Given the description of an element on the screen output the (x, y) to click on. 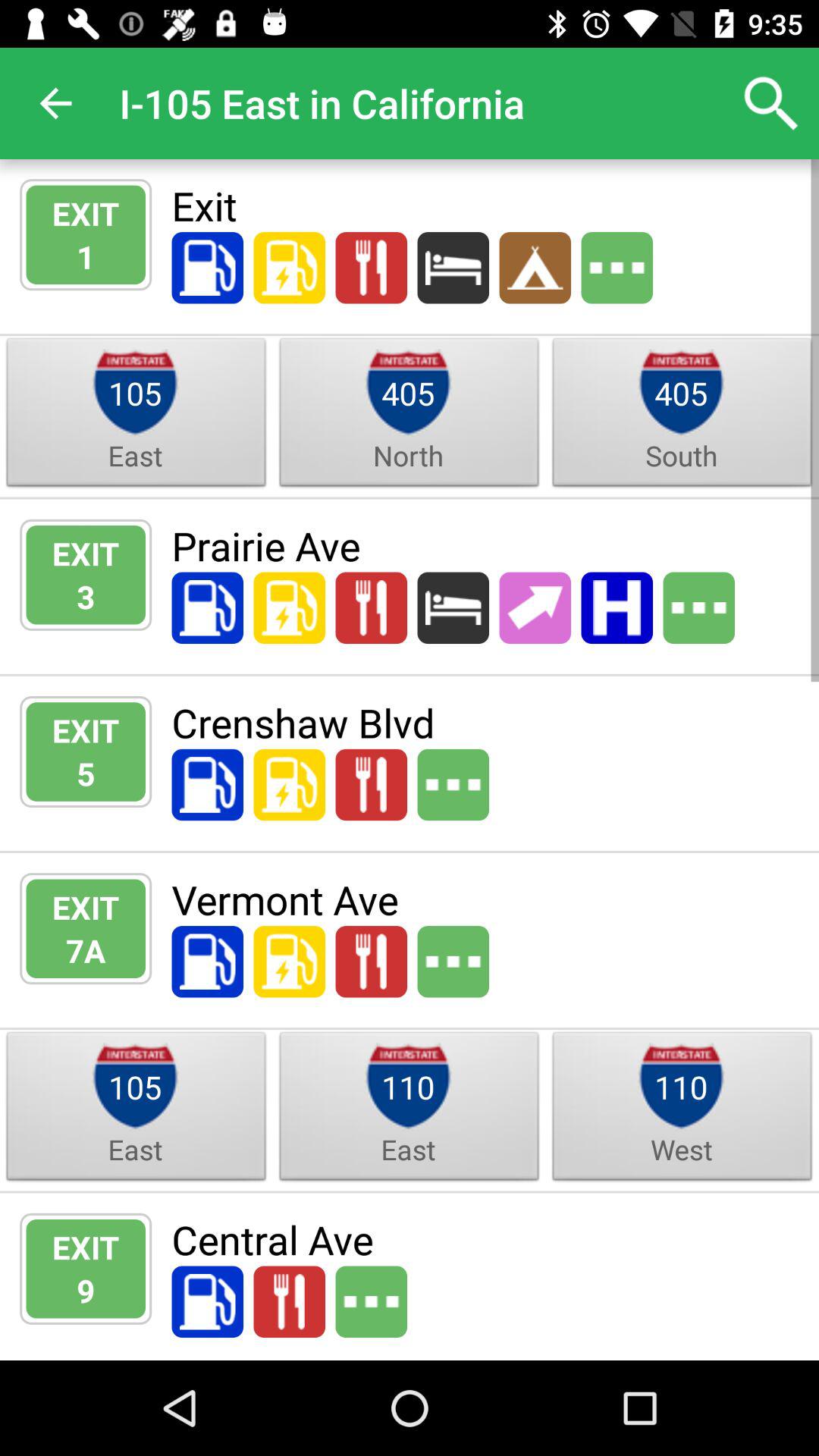
open item below exit icon (85, 596)
